Given the description of an element on the screen output the (x, y) to click on. 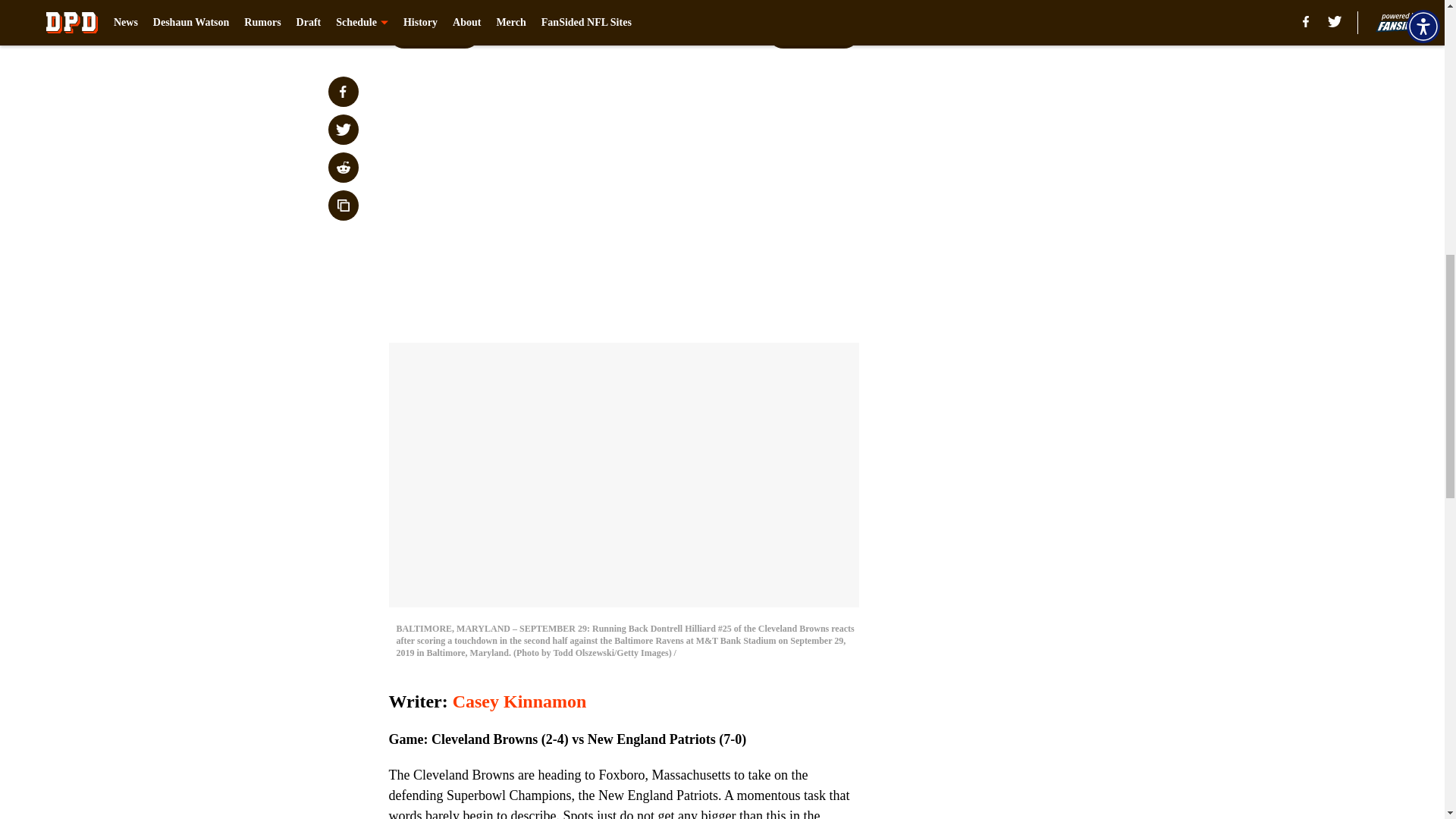
Casey Kinnamon (519, 701)
Next (813, 33)
Prev (433, 33)
